Given the description of an element on the screen output the (x, y) to click on. 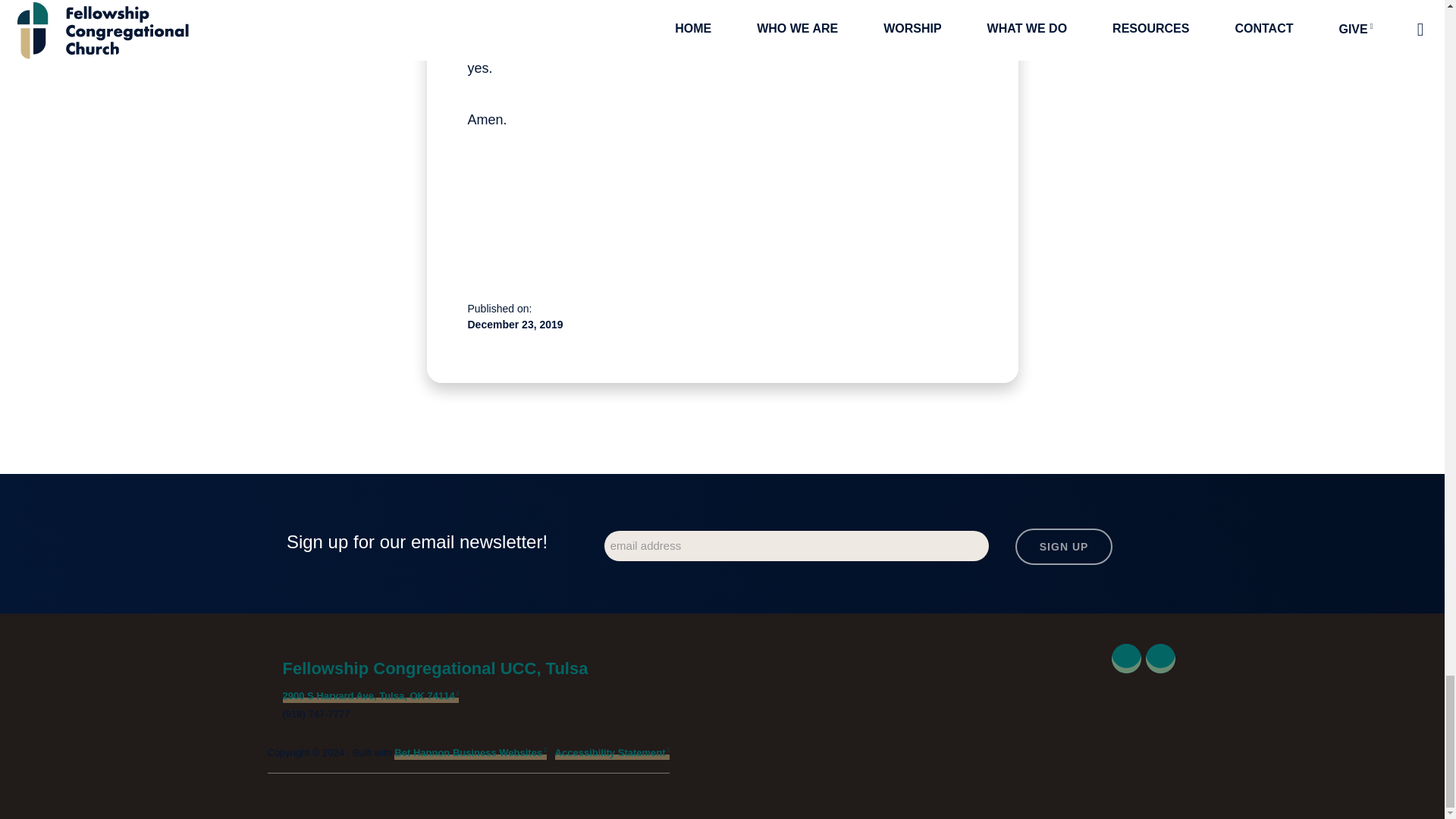
Accessibility Statement (611, 753)
2900 S Harvard Ave, Tulsa, OK 74114 (370, 696)
Bet Hannon Business Websites (470, 753)
